Given the description of an element on the screen output the (x, y) to click on. 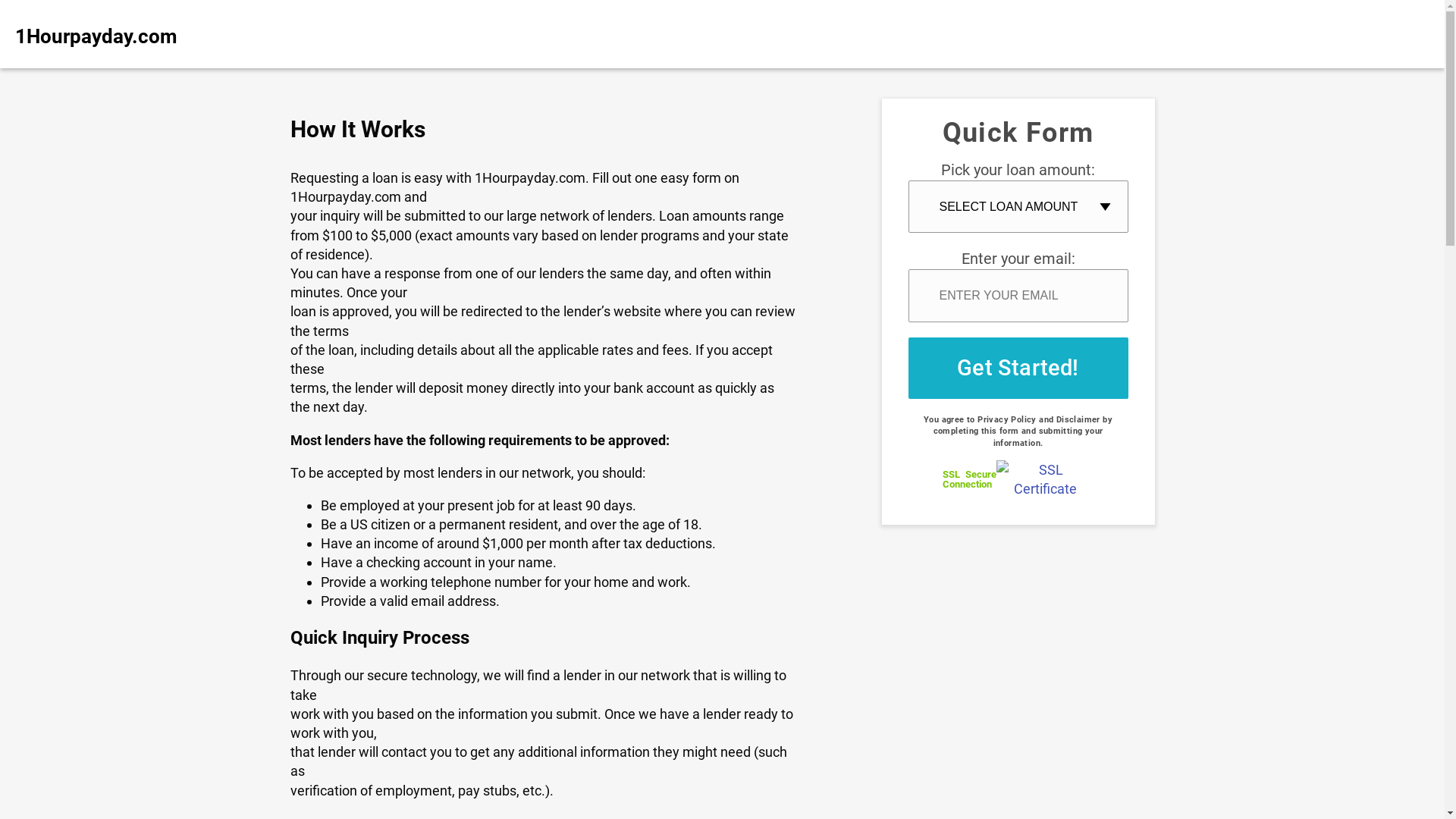
Privacy Policy Element type: text (1006, 419)
1Hourpayday.com Element type: text (128, 33)
Disclaimer Element type: text (1078, 419)
Get Started! Element type: text (1018, 367)
